Given the description of an element on the screen output the (x, y) to click on. 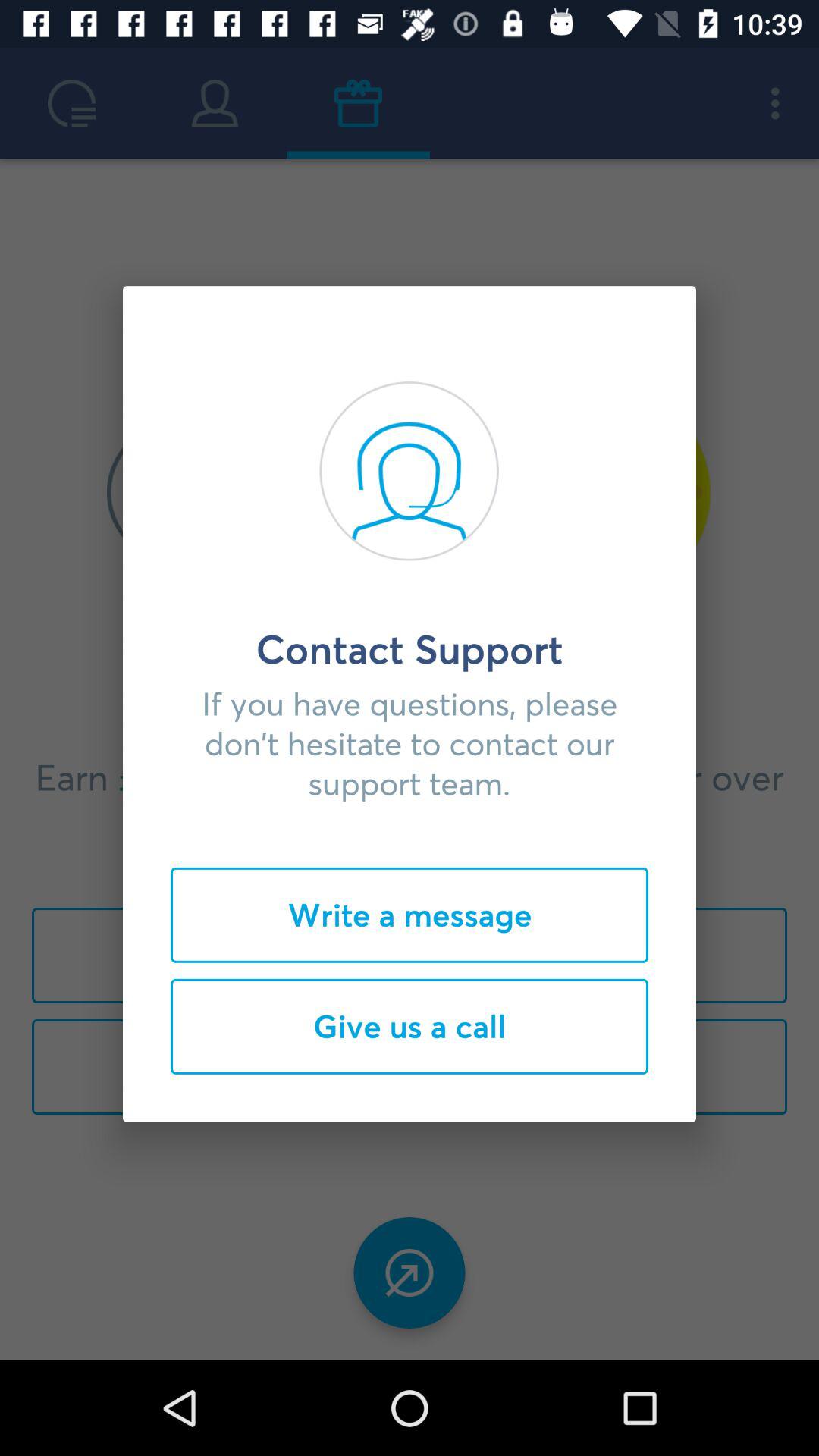
flip to the give us a icon (409, 1026)
